Given the description of an element on the screen output the (x, y) to click on. 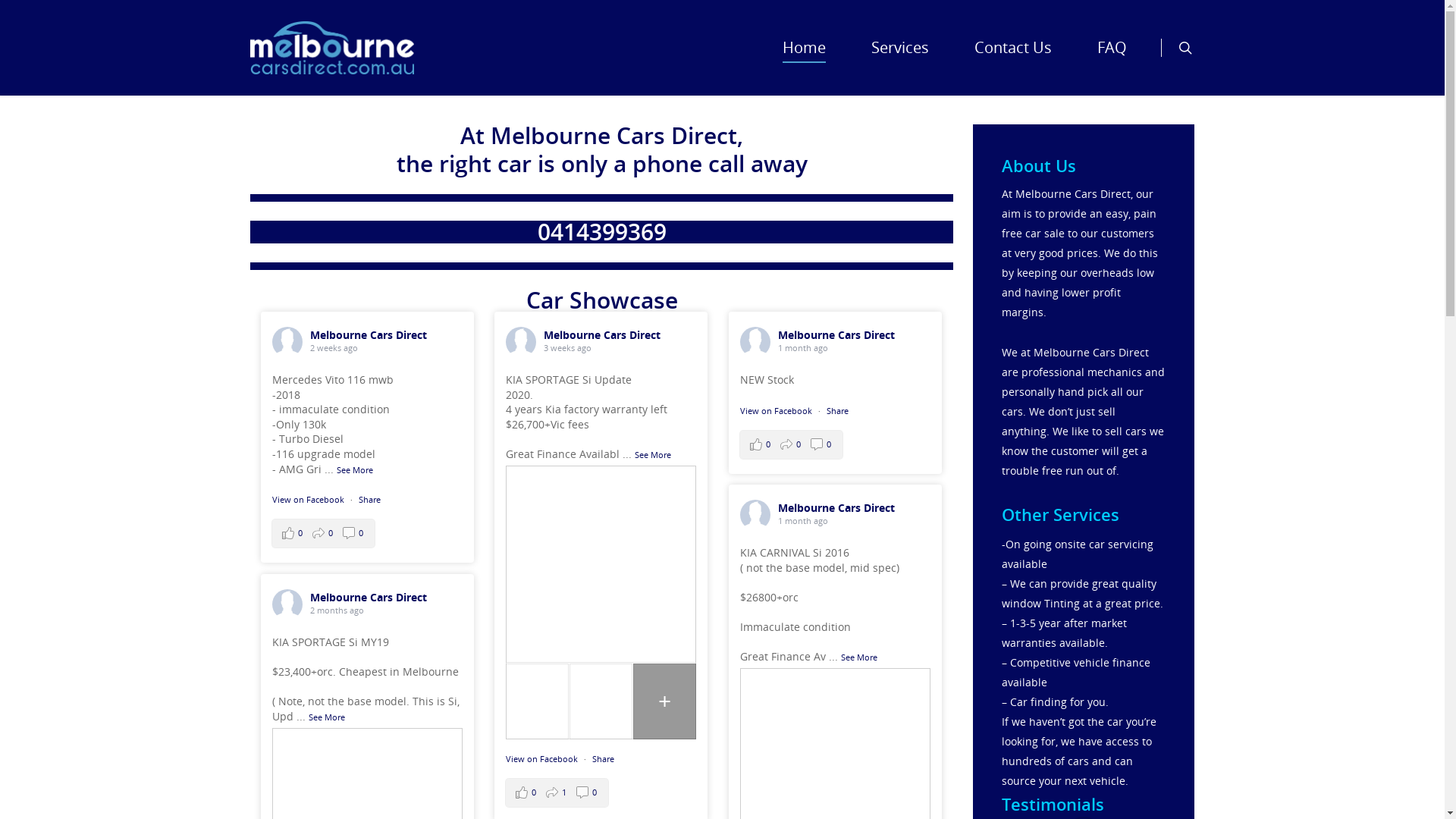
Melbourne Cars Direct Element type: text (368, 334)
Share Element type: text (837, 410)
Melbourne Cars Direct Element type: text (368, 596)
View Comments
Likes:
0
Shares:
0
Comments:
0 Element type: text (323, 533)
View Comments
Likes:
0
Shares:
1
Comments:
0 Element type: text (556, 792)
Home Element type: text (803, 58)
View on Facebook Element type: text (777, 410)
Services Element type: text (899, 58)
Contact Us Element type: text (1012, 58)
See More Element type: text (858, 656)
See More Element type: text (326, 716)
Share Element type: text (369, 499)
View Comments
Likes:
0
Shares:
0
Comments:
0 Element type: text (791, 444)
0414399369 Element type: text (601, 231)
Melbourne Cars Direct Element type: text (836, 334)
Melbourne Cars Direct Element type: text (836, 507)
See More Element type: text (652, 454)
Melbourne Cars Direct Element type: text (601, 334)
View on Facebook Element type: text (309, 499)
Share Element type: text (603, 758)
FAQ Element type: text (1111, 58)
View on Facebook Element type: text (542, 758)
See More Element type: text (354, 469)
